Given the description of an element on the screen output the (x, y) to click on. 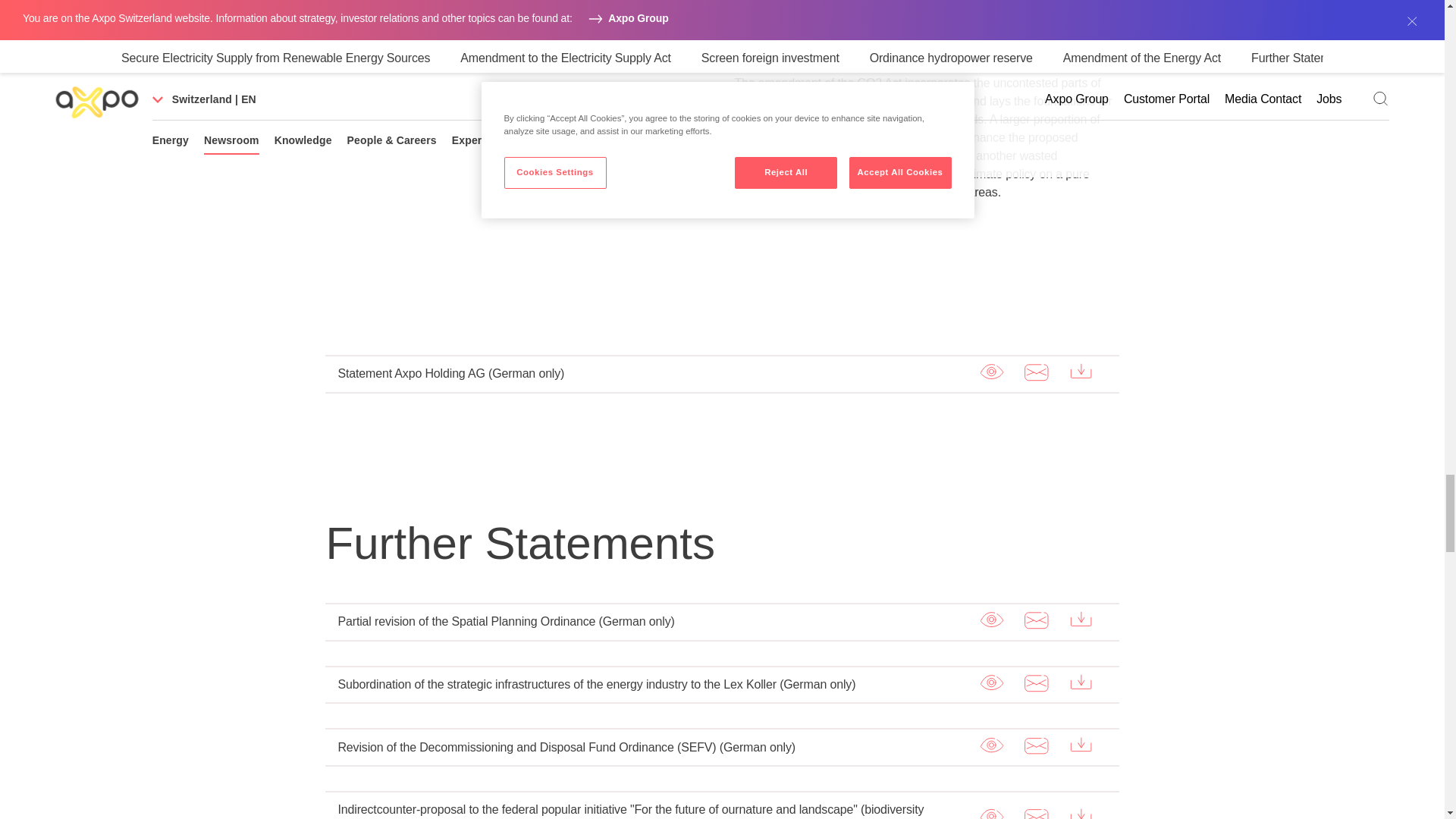
Send email (1036, 372)
Send email (1036, 619)
Send email (1036, 682)
